Given the description of an element on the screen output the (x, y) to click on. 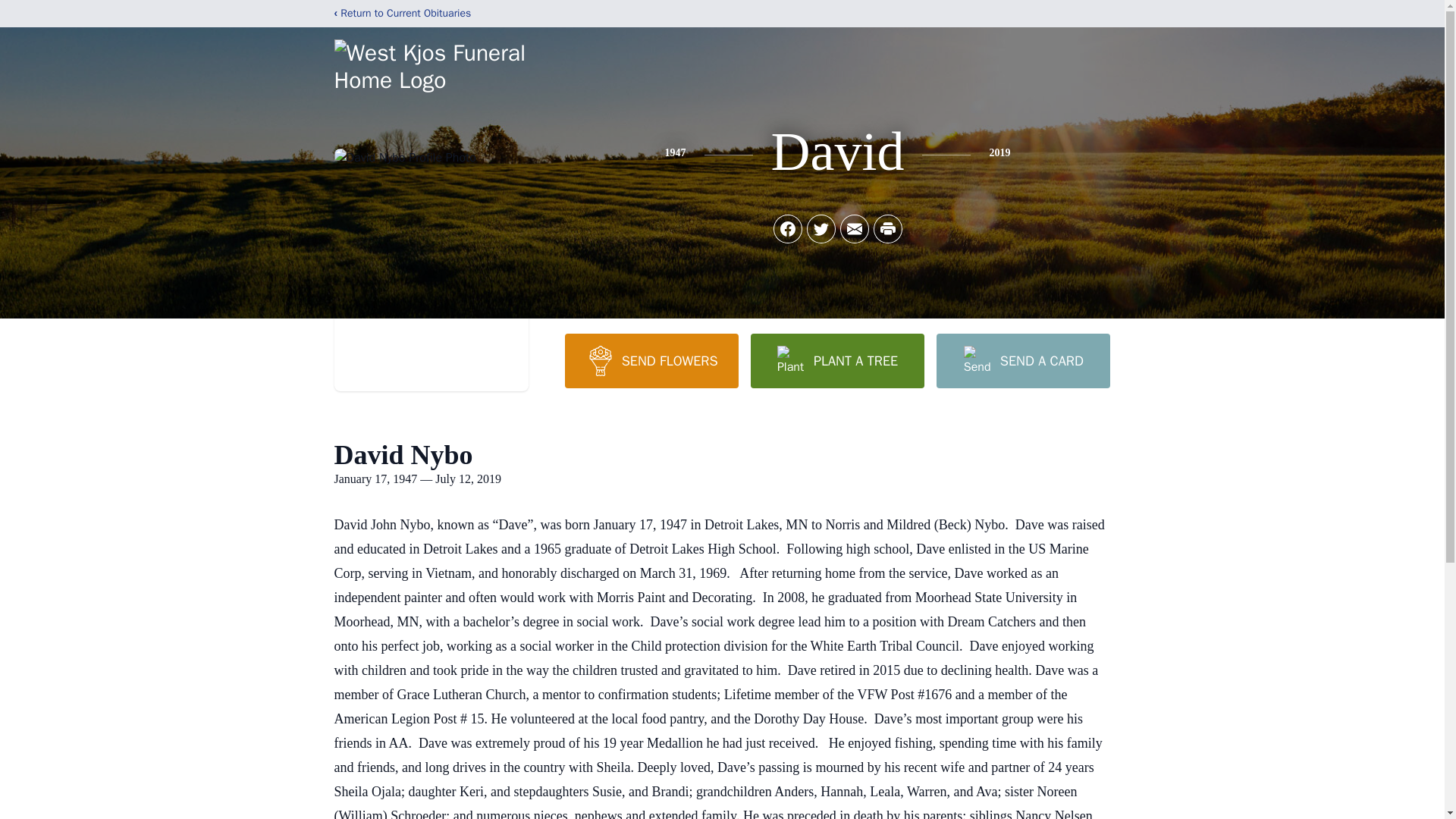
PLANT A TREE (837, 360)
SEND FLOWERS (651, 360)
SEND A CARD (1022, 360)
